Given the description of an element on the screen output the (x, y) to click on. 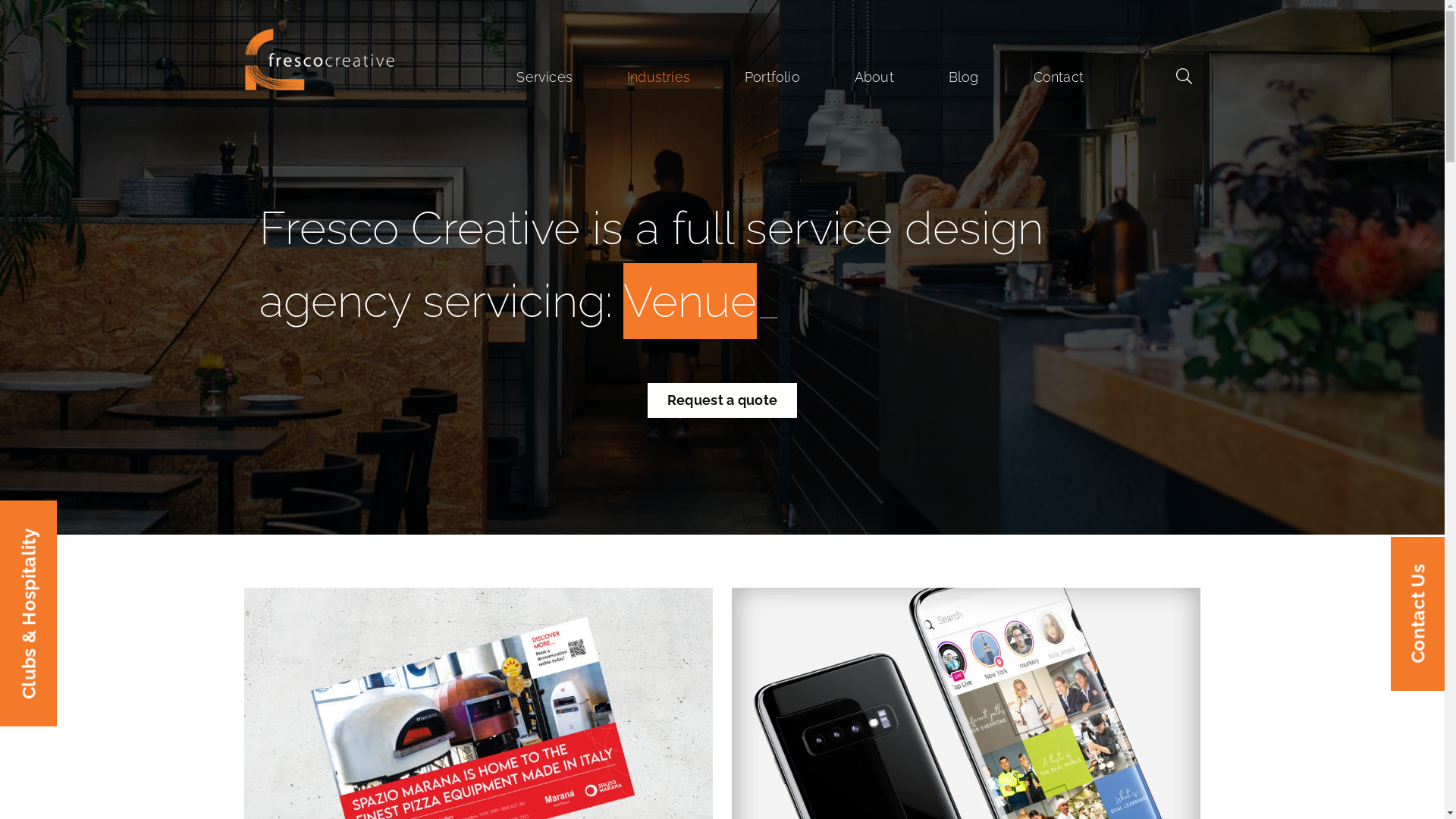
Clubs & Hospitality Element type: text (115, 527)
Search Element type: text (192, 11)
Portfolio Element type: text (772, 77)
About Element type: text (874, 77)
Services Element type: text (544, 77)
Contact Element type: text (1058, 77)
Industries Element type: text (658, 77)
Blog Element type: text (963, 77)
Request a quote Element type: text (722, 399)
